Given the description of an element on the screen output the (x, y) to click on. 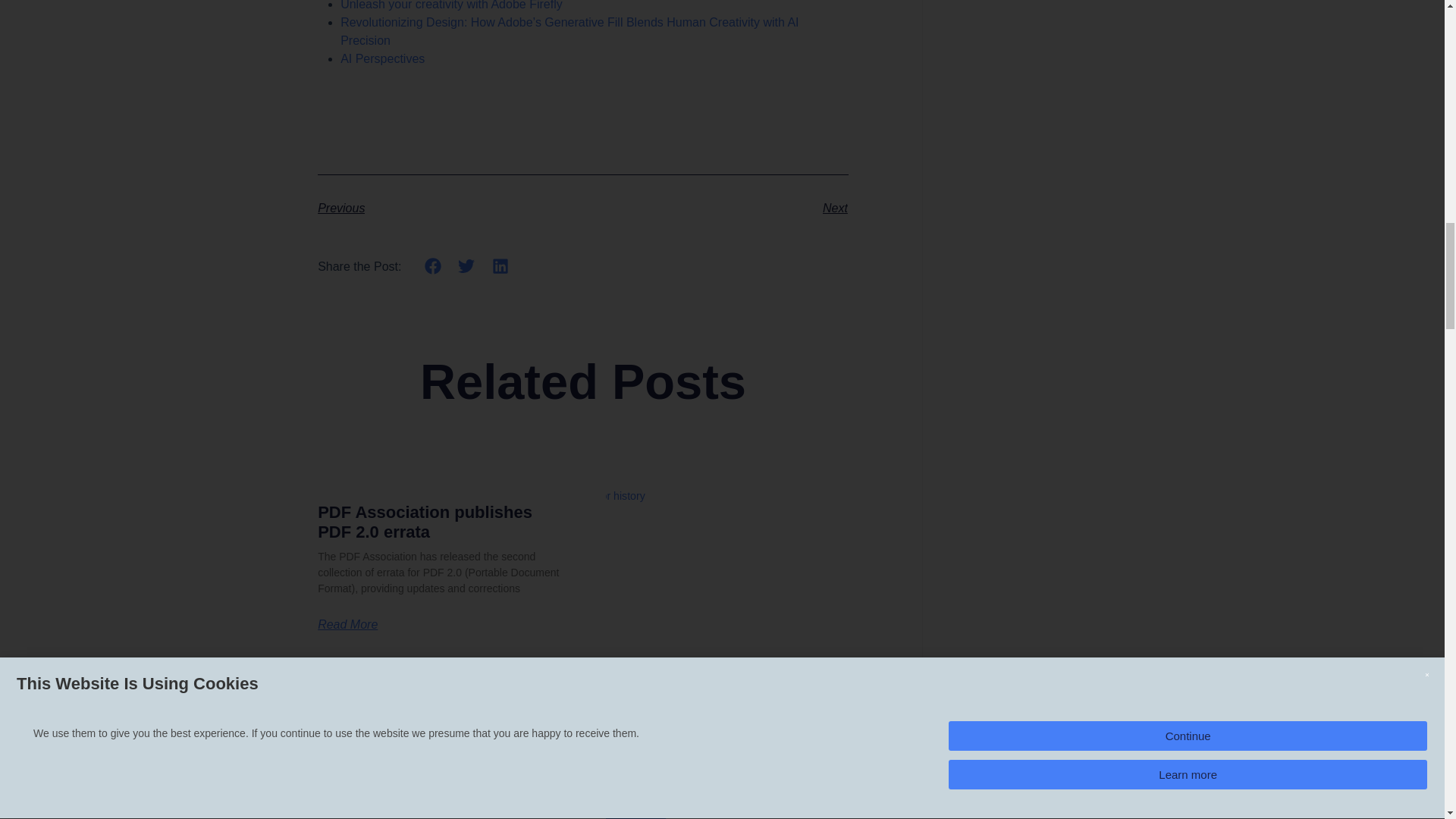
Next (714, 209)
Previous (449, 209)
Unleash your creativity with Adobe Firefly (451, 5)
AI Perspectives (382, 58)
